Given the description of an element on the screen output the (x, y) to click on. 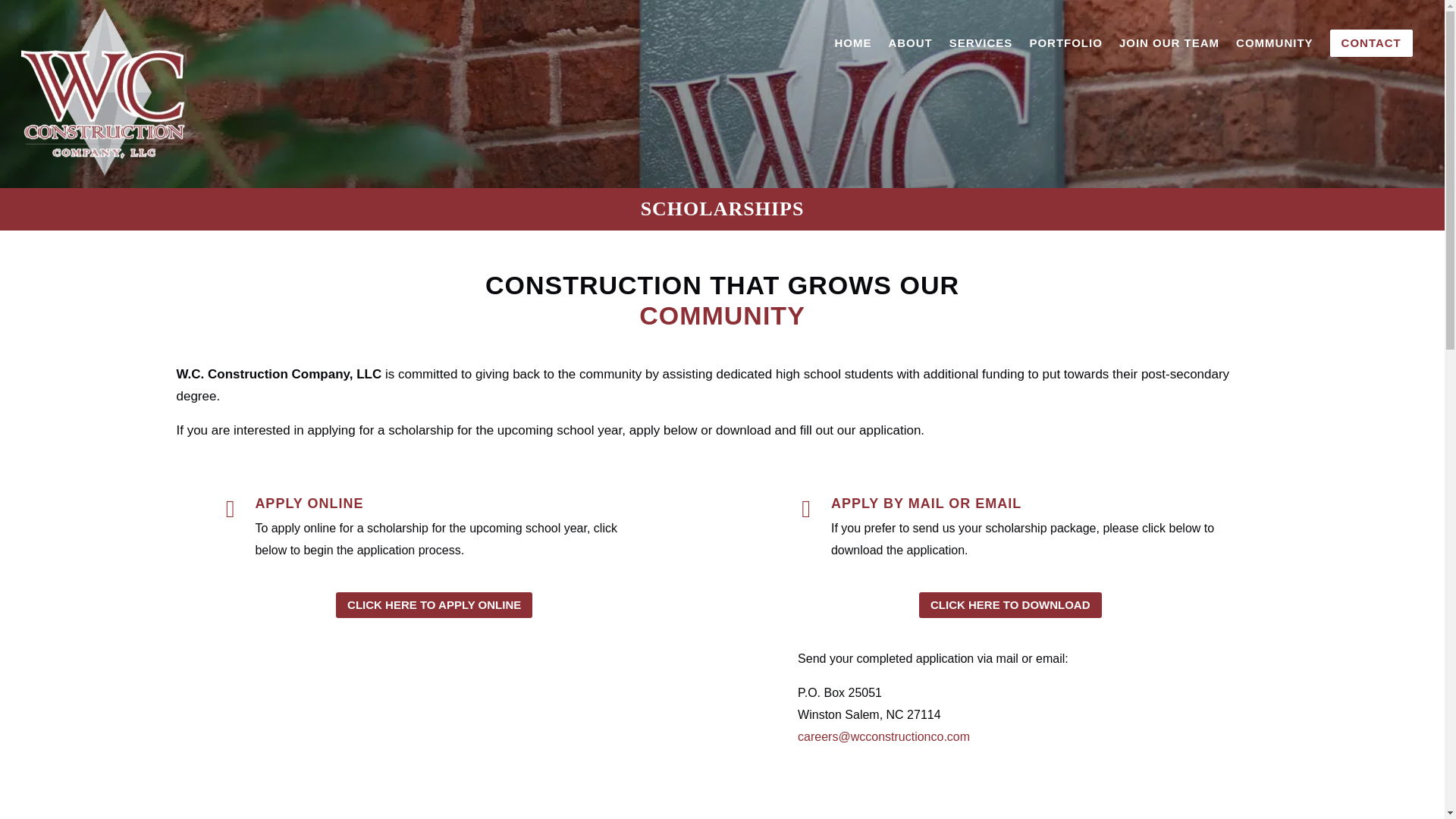
wclogo small (102, 92)
APPLY BY MAIL OR EMAIL (926, 503)
HOME (852, 42)
CONTACT (1371, 42)
PORTFOLIO (1065, 42)
ABOUT (909, 42)
CLICK HERE TO DOWNLOAD (1010, 605)
JOIN OUR TEAM (1169, 42)
SERVICES (981, 42)
CLICK HERE TO APPLY ONLINE (434, 605)
APPLY ONLINE (308, 503)
COMMUNITY (1274, 42)
